Given the description of an element on the screen output the (x, y) to click on. 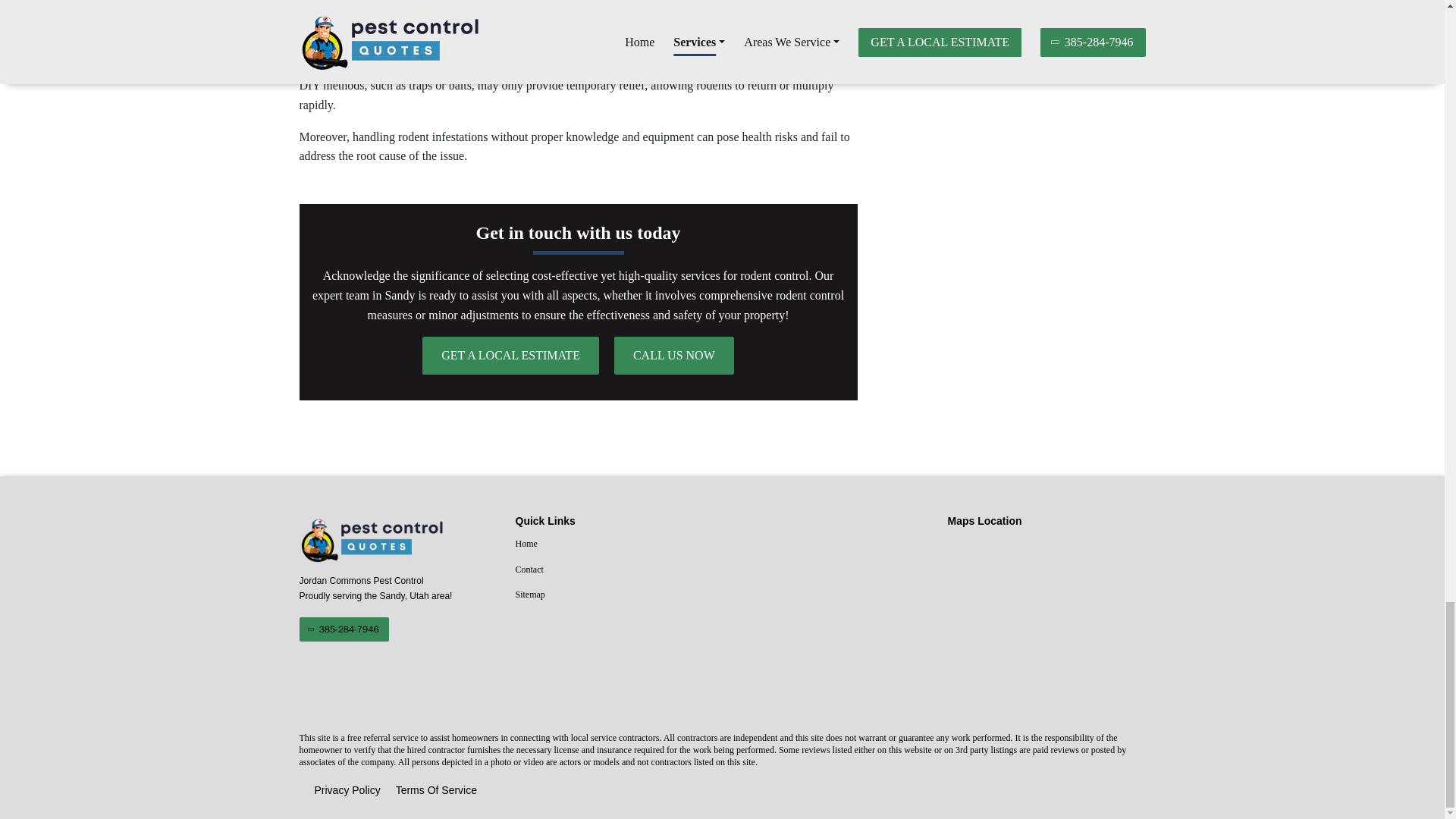
Contact (614, 569)
CALL US NOW (673, 355)
Terms Of Service (436, 790)
GET A LOCAL ESTIMATE (510, 355)
385-284-7946 (343, 629)
Privacy Policy (347, 790)
Home (614, 544)
Sitemap (614, 595)
